Given the description of an element on the screen output the (x, y) to click on. 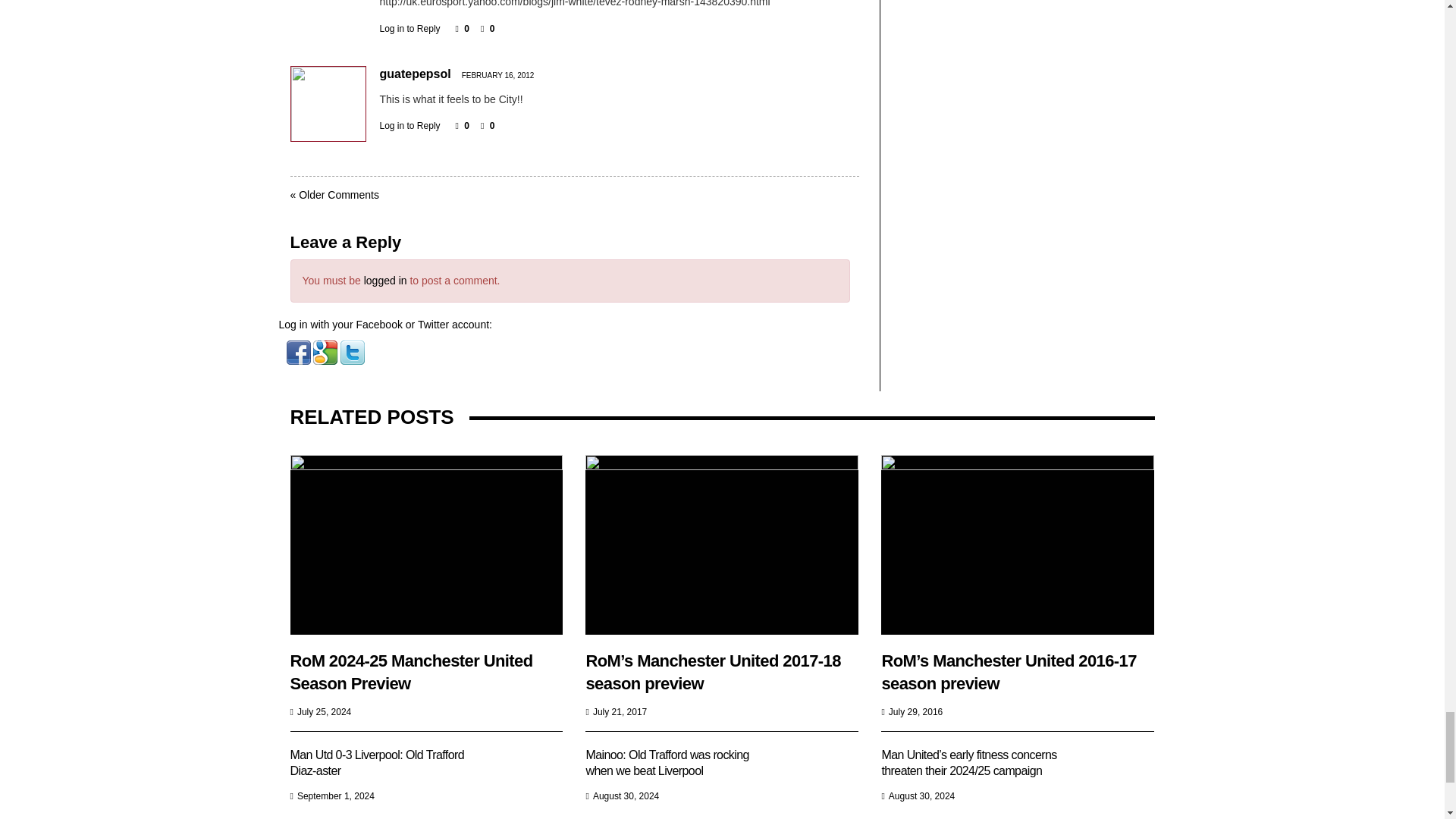
RoM 2024-25 Manchester United Season Preview (425, 544)
Connect with Twitter (352, 351)
Connect with Google (326, 351)
Connect with Facebook (300, 351)
